Given the description of an element on the screen output the (x, y) to click on. 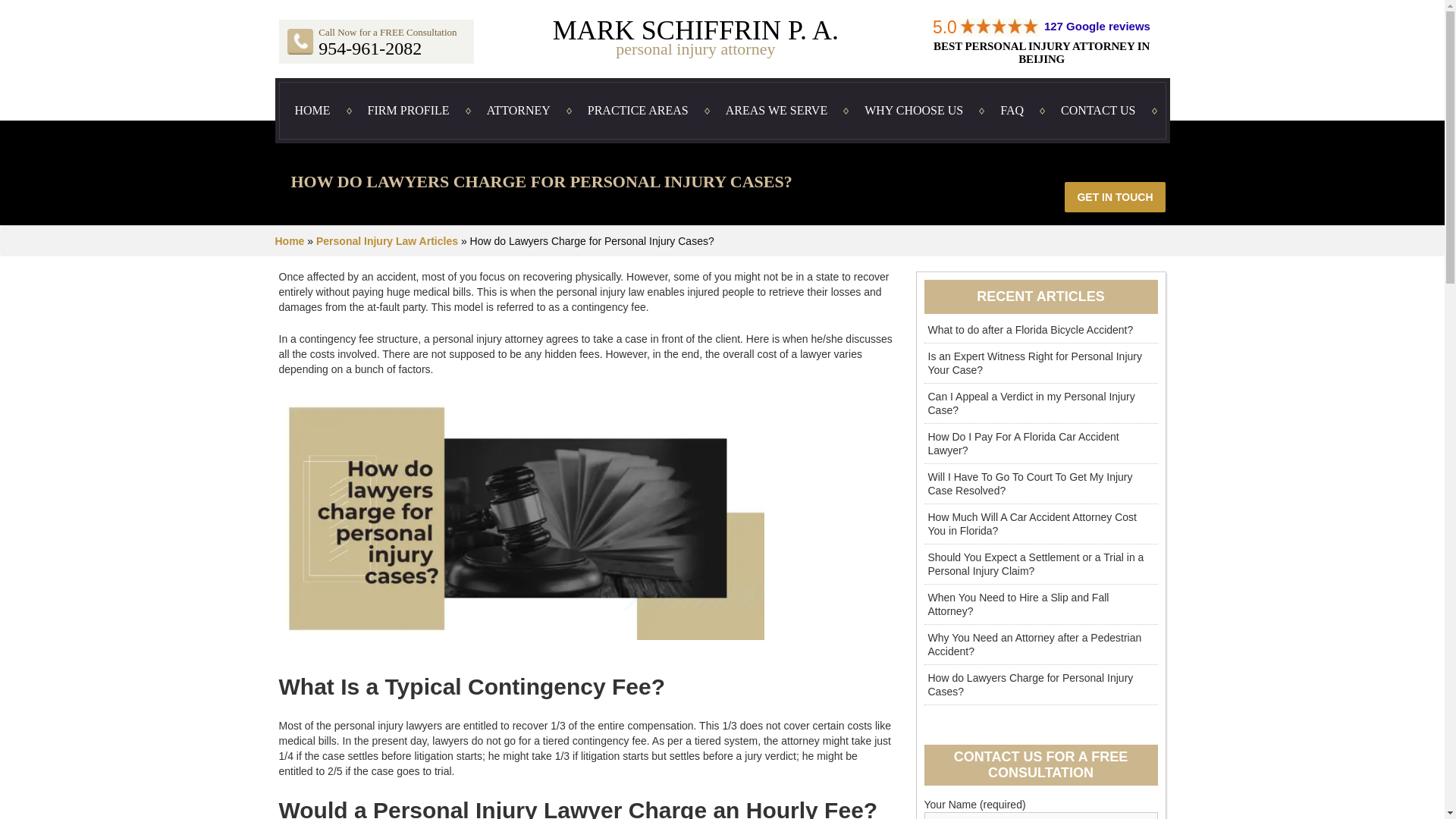
Can I Appeal a Verdict in my Personal Injury Case? (1040, 404)
ATTORNEY (518, 110)
GET IN TOUCH (1114, 196)
FIRM PROFILE (411, 110)
Contact Personal Injury Lawyer in South Florida (300, 41)
HOME (315, 110)
How Much Will A Car Accident Attorney Cost You in Florida? (1040, 524)
What to do after a Florida Bicycle Accident? (1040, 329)
Personal Injury Law Articles (386, 241)
954-961-2082 (370, 47)
AREAS WE SERVE (776, 110)
How Do I Pay For A Florida Car Accident Lawyer? (1040, 444)
WHY CHOOSE US (916, 110)
PRACTICE AREAS (637, 110)
CONTACT US (1097, 110)
